Given the description of an element on the screen output the (x, y) to click on. 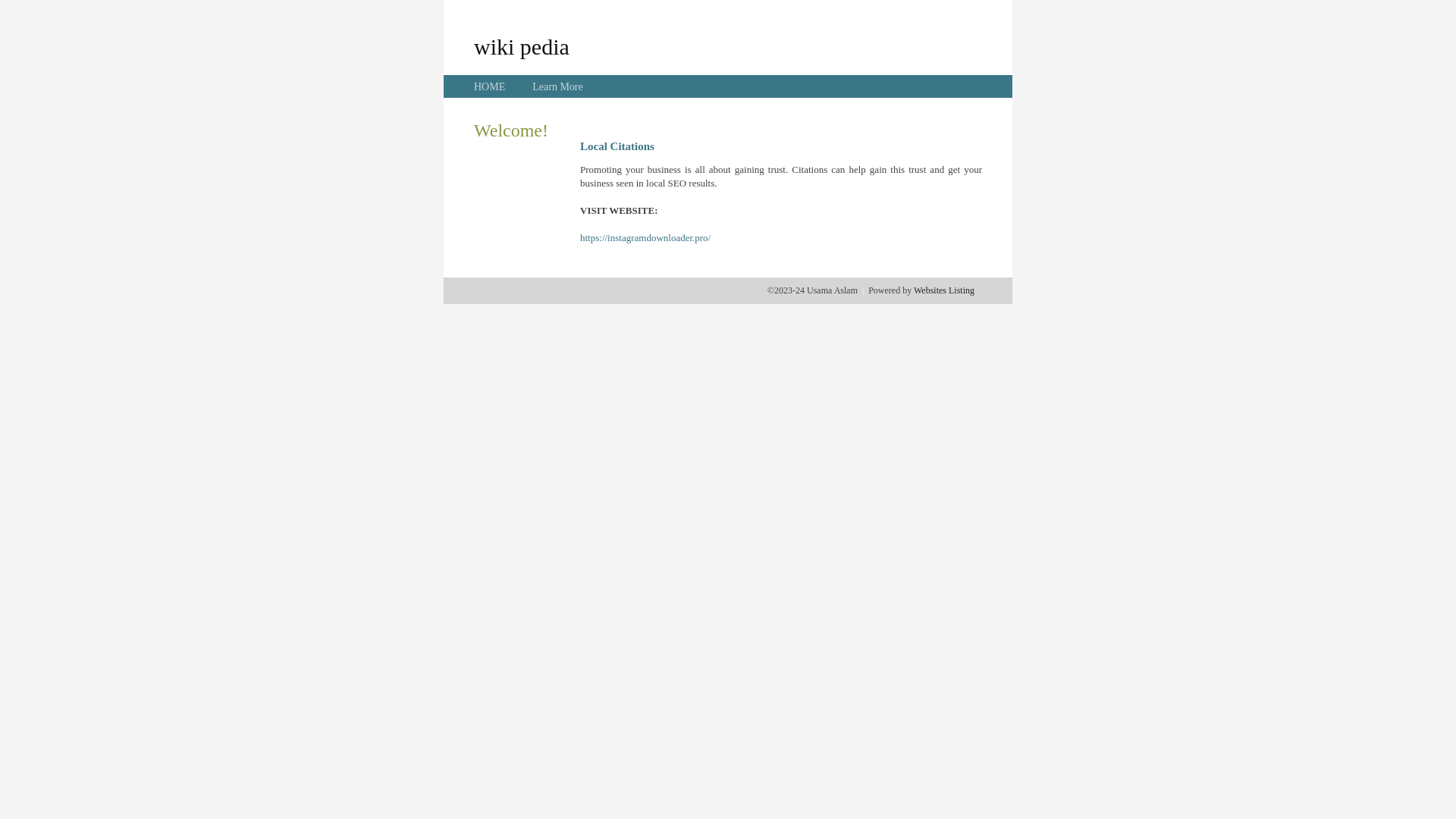
Websites Listing Element type: text (943, 290)
wiki pedia Element type: text (521, 46)
HOME Element type: text (489, 86)
Learn More Element type: text (557, 86)
https://instagramdownloader.pro/ Element type: text (645, 237)
